Given the description of an element on the screen output the (x, y) to click on. 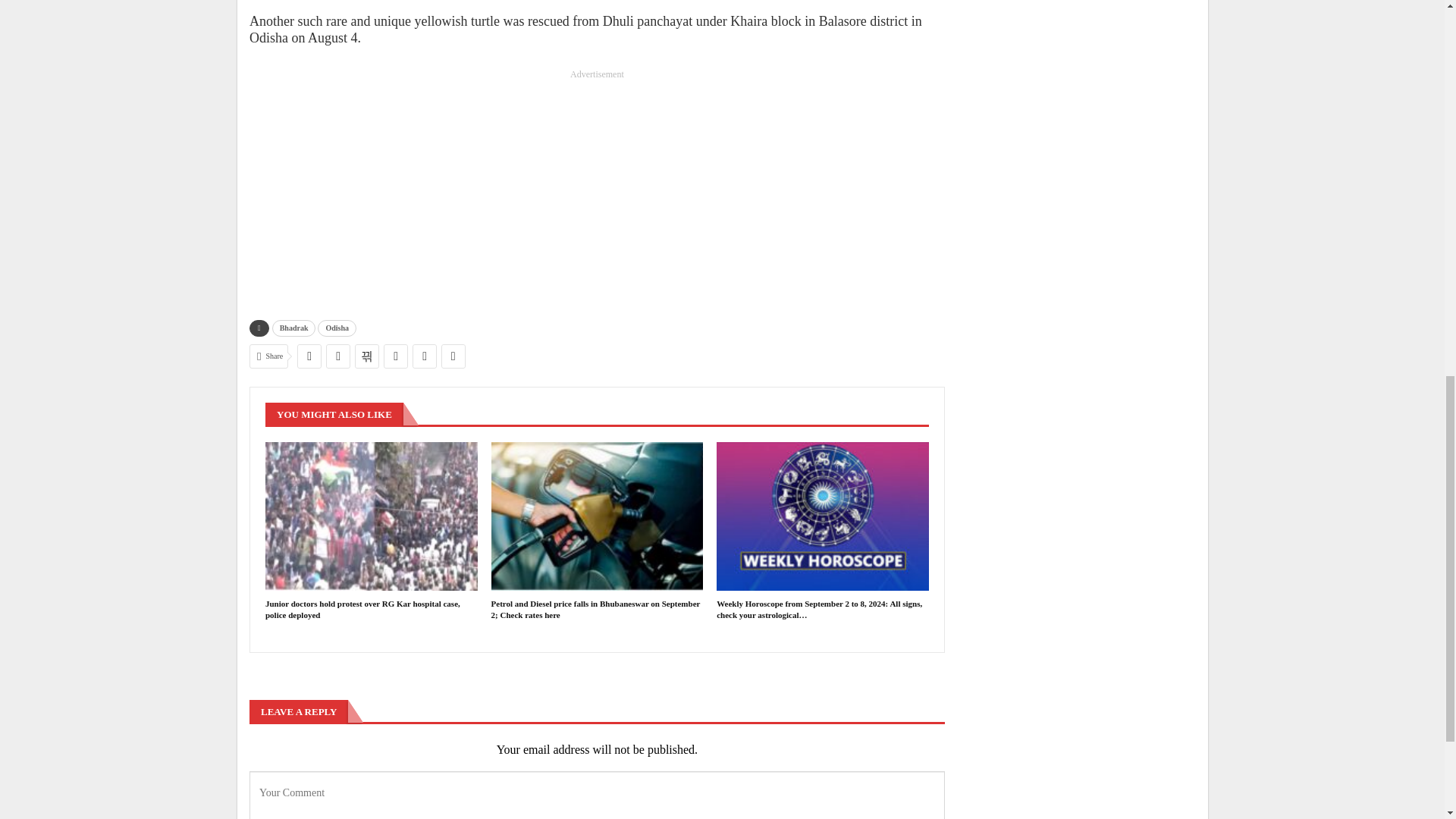
Bhadrak (293, 328)
Odisha (336, 328)
